Given the description of an element on the screen output the (x, y) to click on. 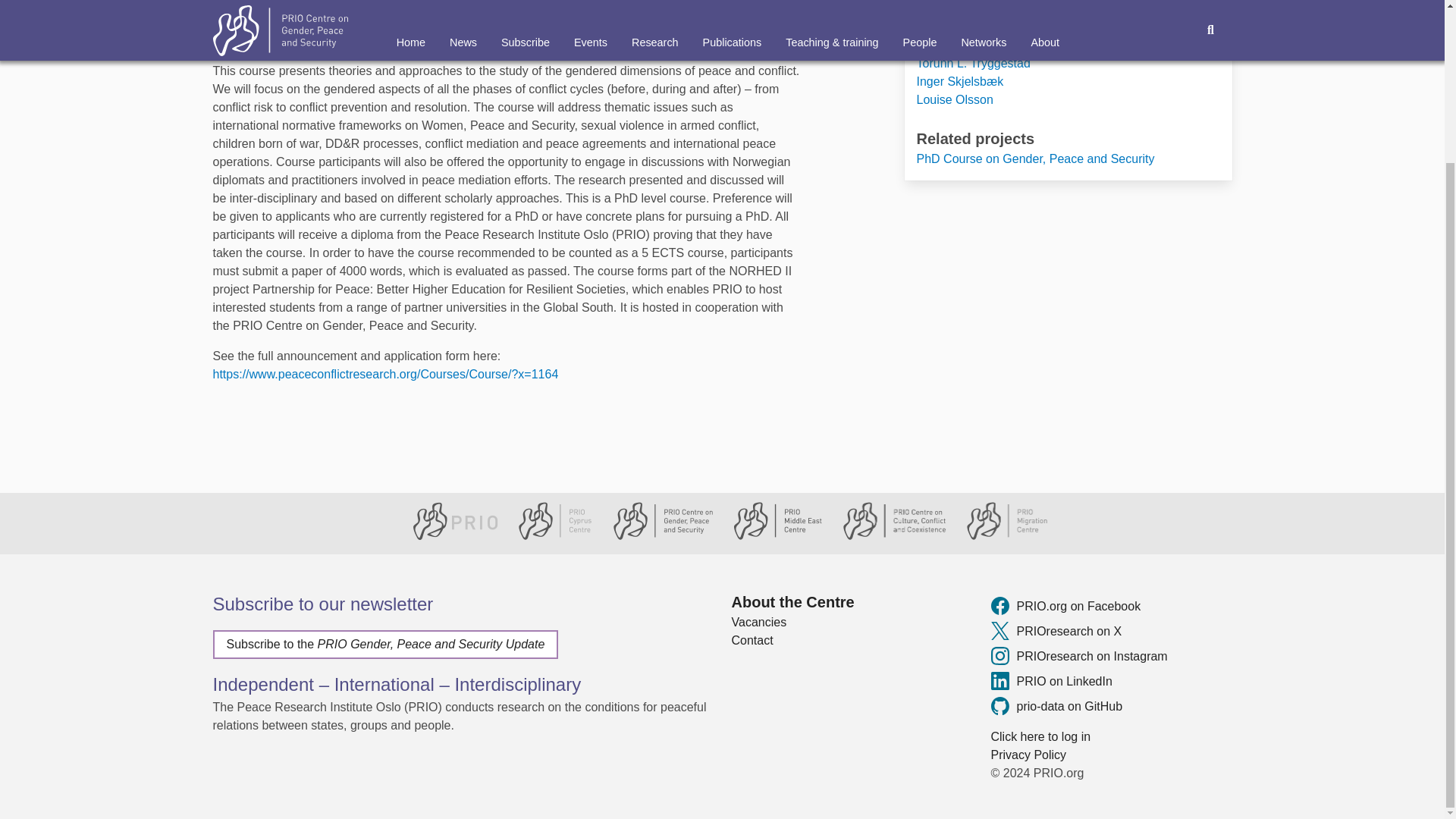
PhD Course on Gender, Peace and Security (1035, 158)
Torunn L. Tryggestad (973, 62)
Subscribe to the PRIO Gender, Peace and Security Update (384, 644)
Louise Olsson (954, 99)
